Given the description of an element on the screen output the (x, y) to click on. 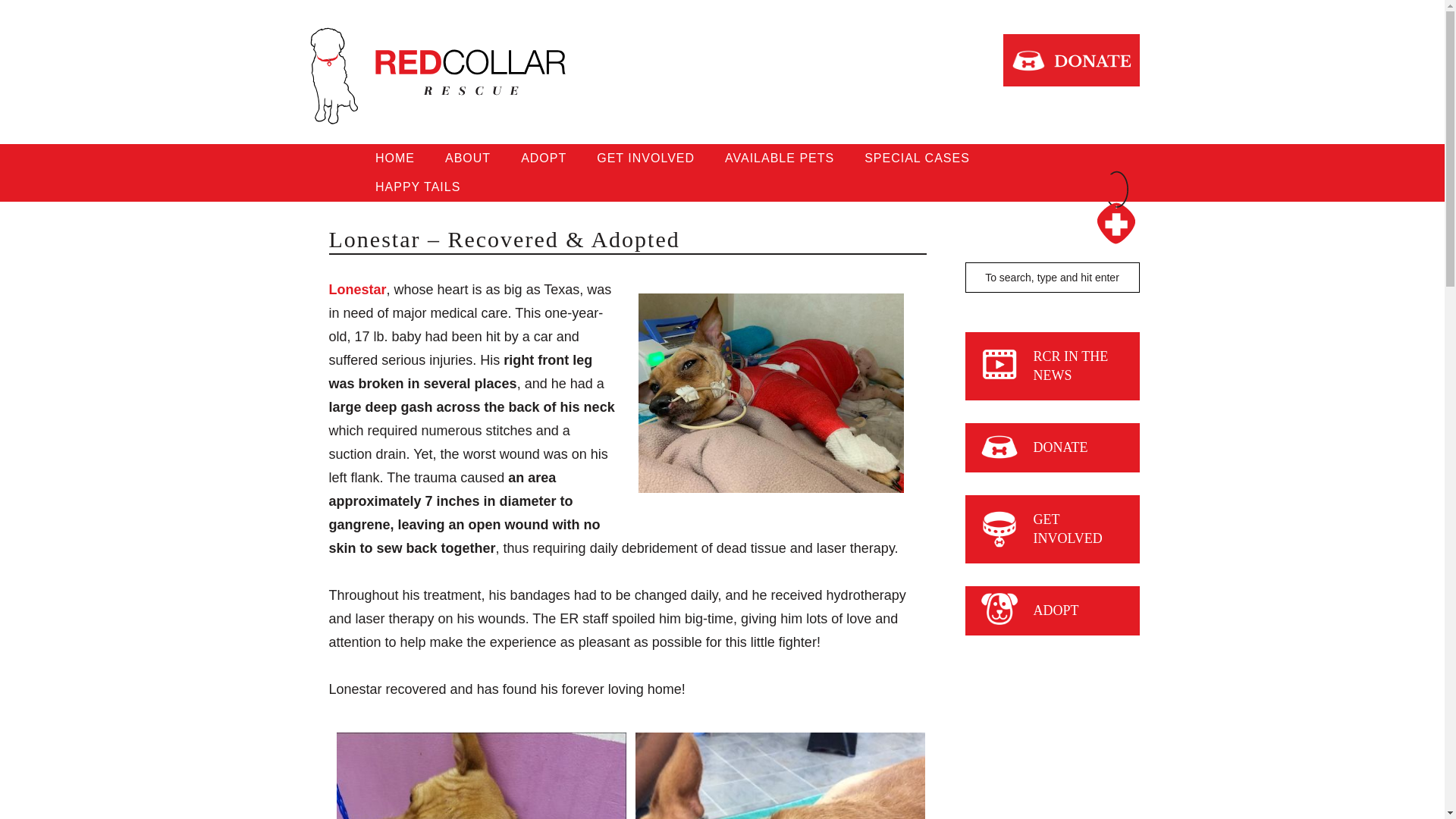
HAPPY TAILS (417, 186)
ABOUT (467, 158)
GET INVOLVED (645, 158)
SPECIAL CASES (916, 158)
GET INVOLVED (1067, 528)
ADOPT (1055, 610)
HOME (394, 158)
RCR IN THE NEWS (1070, 365)
DONATE (1059, 447)
ADOPT (542, 158)
